Given the description of an element on the screen output the (x, y) to click on. 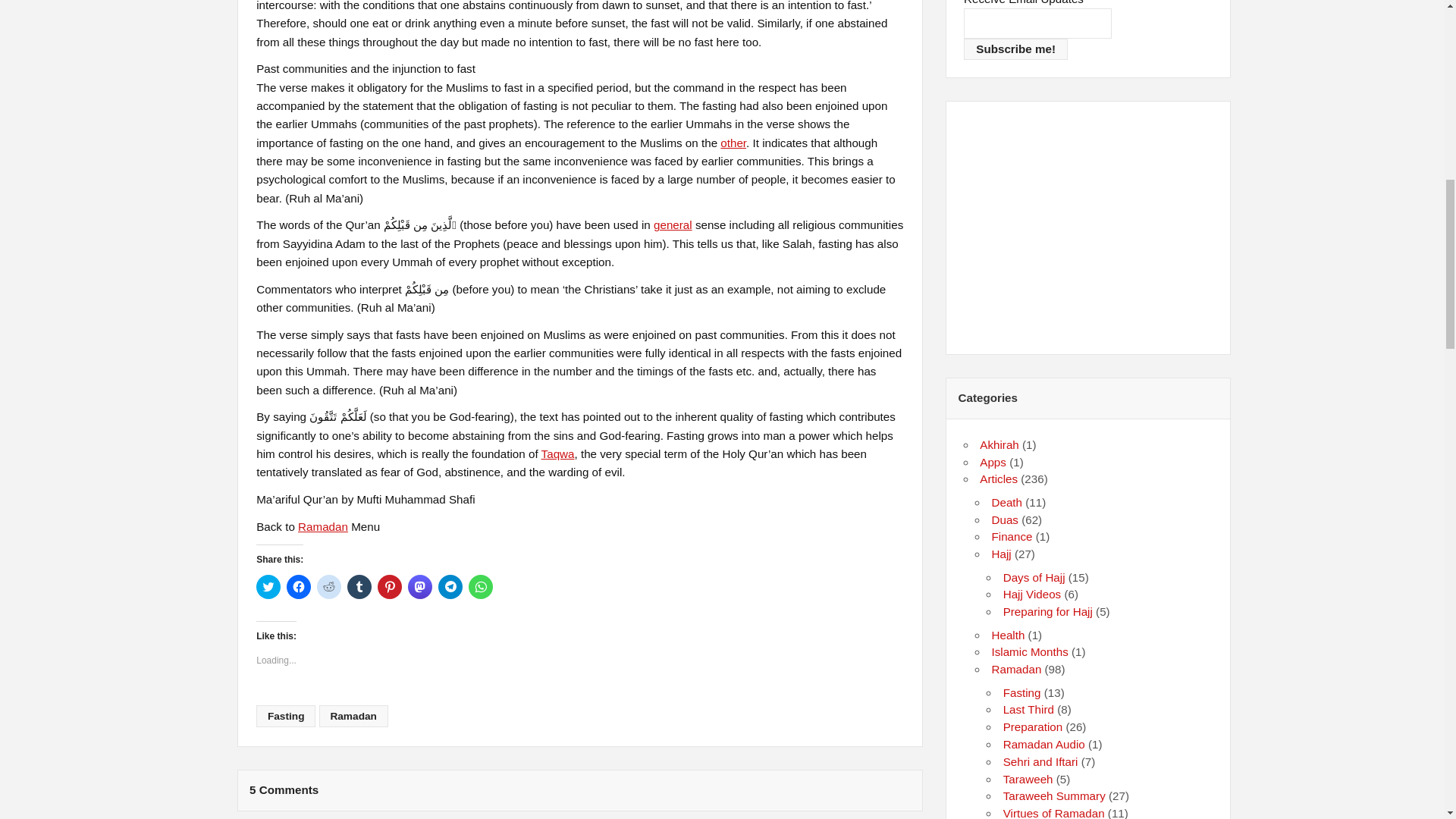
Subscribe me! (1015, 48)
Click to share on Mastodon (419, 586)
Click to share on WhatsApp (480, 586)
Click to share on Twitter (268, 586)
Click to share on Pinterest (389, 586)
Ramadan (322, 526)
Click to share on Reddit (328, 586)
Click to share on Facebook (298, 586)
Click to share on Telegram (450, 586)
Taqwa (558, 453)
other (732, 142)
general (673, 224)
Click to share on Tumblr (359, 586)
